Given the description of an element on the screen output the (x, y) to click on. 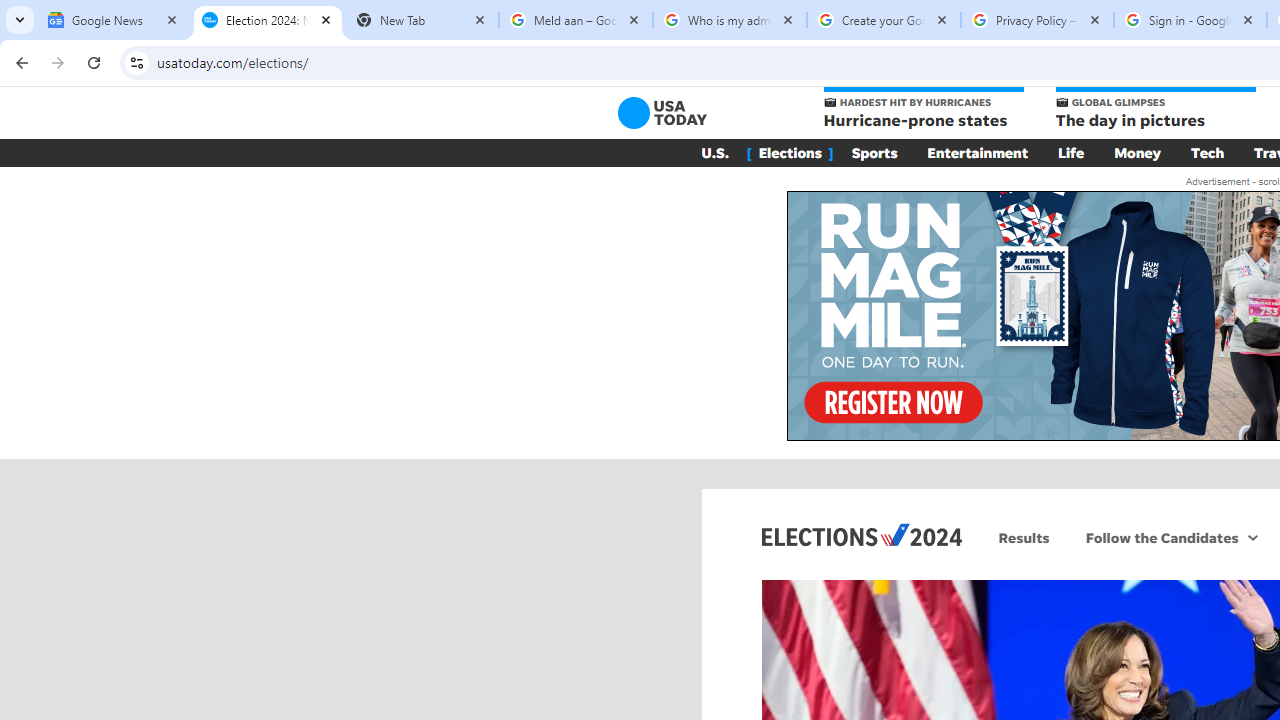
Sign in - Google Accounts (1190, 20)
Entertainment (977, 152)
Create your Google Account (883, 20)
Elections 2024 (861, 534)
Tech (1207, 152)
Follow the Candidates (1159, 537)
Life (1071, 152)
Google News (113, 20)
Results (1024, 537)
